Given the description of an element on the screen output the (x, y) to click on. 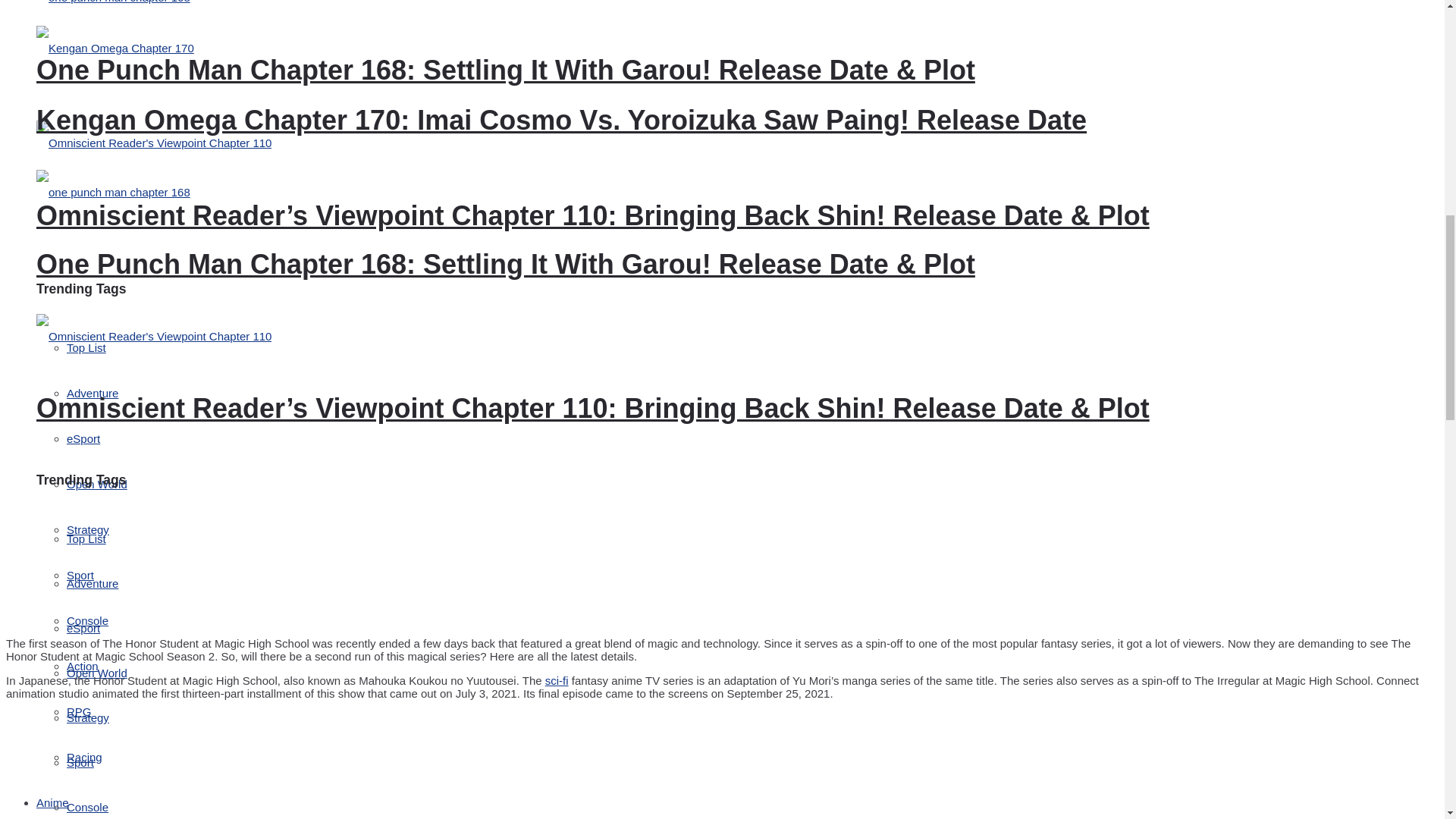
eSport (83, 438)
RPG (78, 711)
Adventure (91, 392)
Sport (80, 574)
Console (86, 620)
Open World (97, 483)
Top List (86, 347)
Action (82, 666)
Strategy (87, 529)
Anime (52, 802)
